Given the description of an element on the screen output the (x, y) to click on. 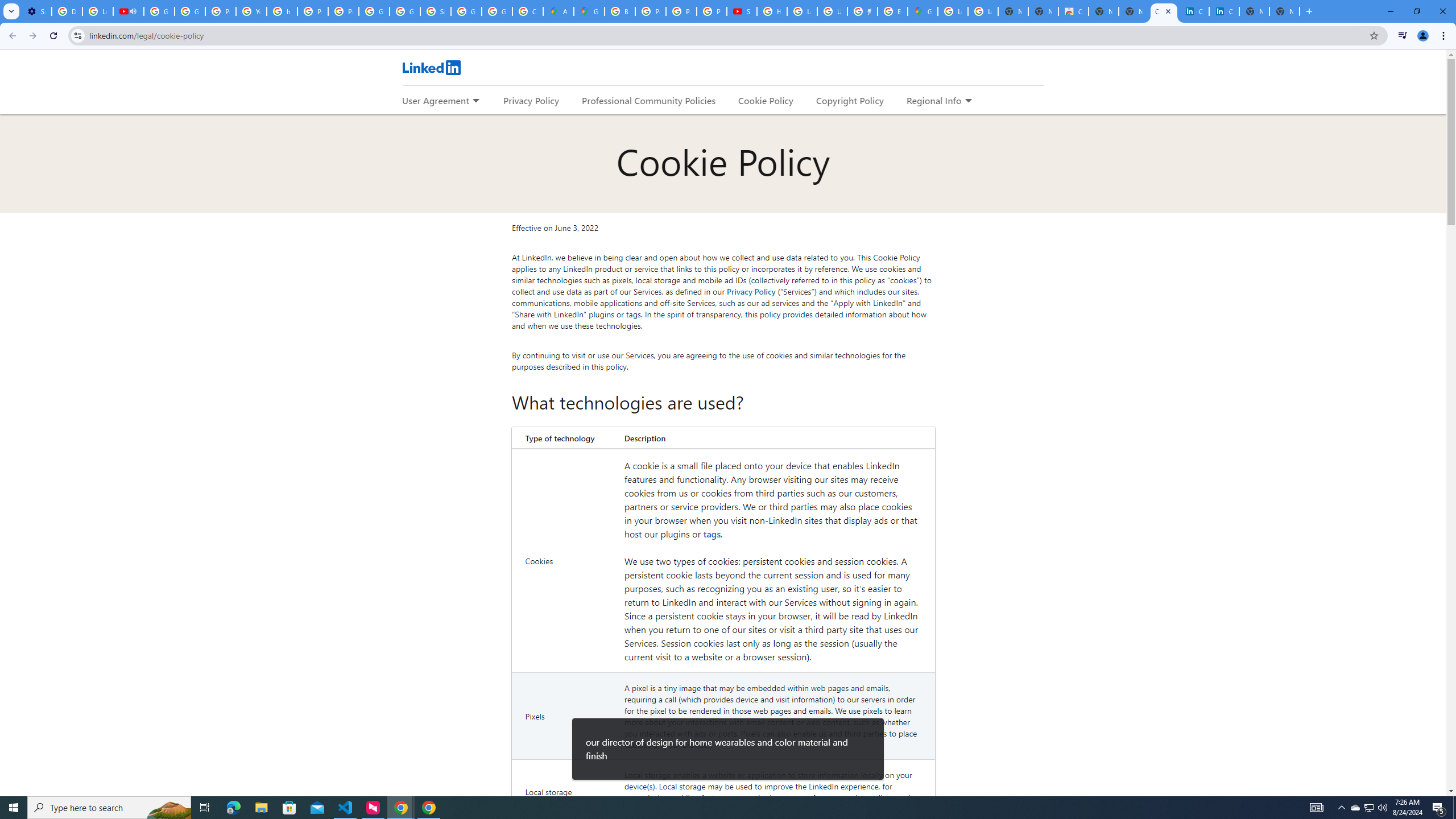
YouTube (251, 11)
Cookie Policy | LinkedIn (1163, 11)
Privacy Help Center - Policies Help (650, 11)
Chrome Web Store (1072, 11)
tags (711, 533)
New Tab (1283, 11)
